Given the description of an element on the screen output the (x, y) to click on. 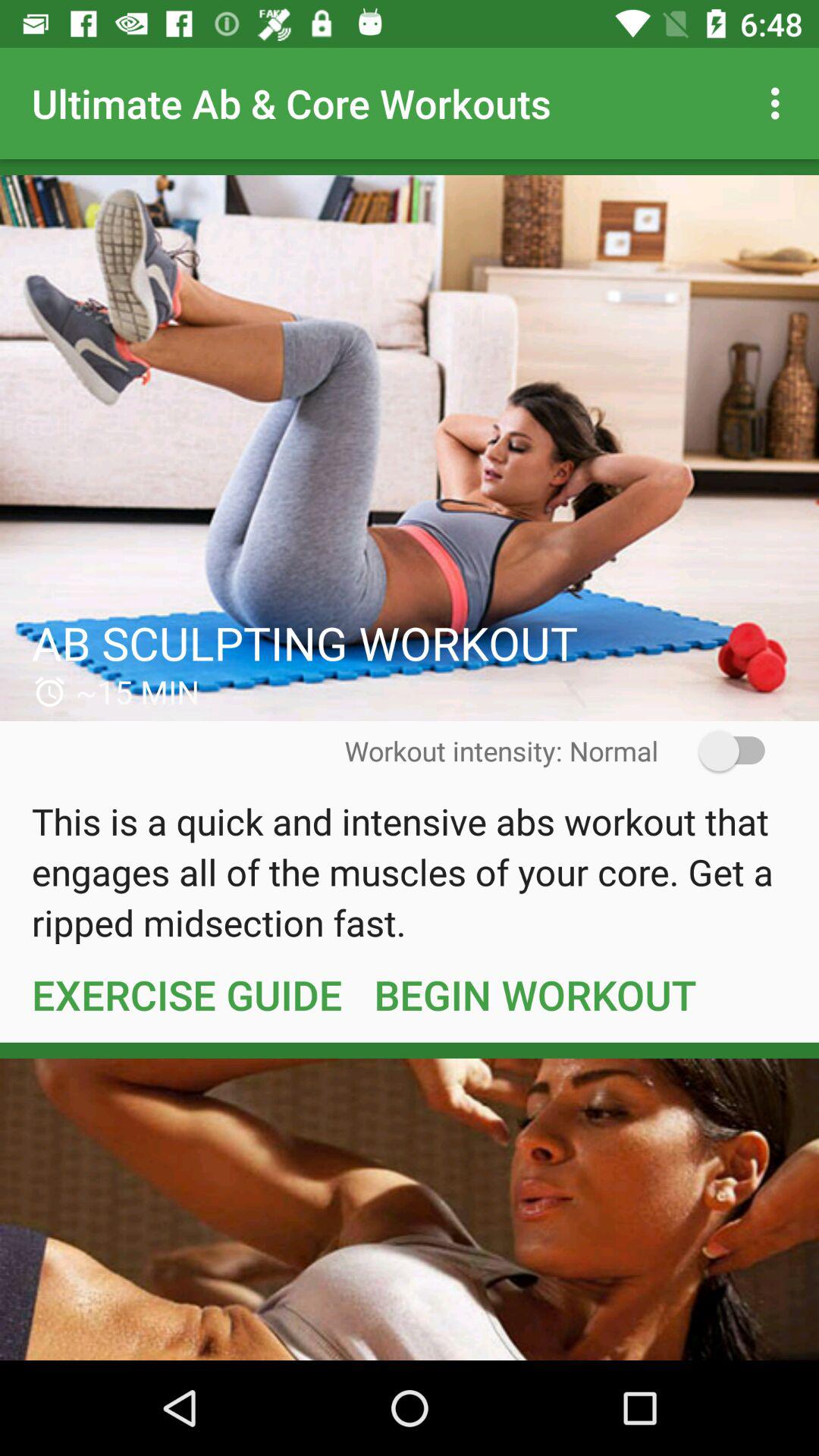
select the icon below this is a icon (186, 994)
